Given the description of an element on the screen output the (x, y) to click on. 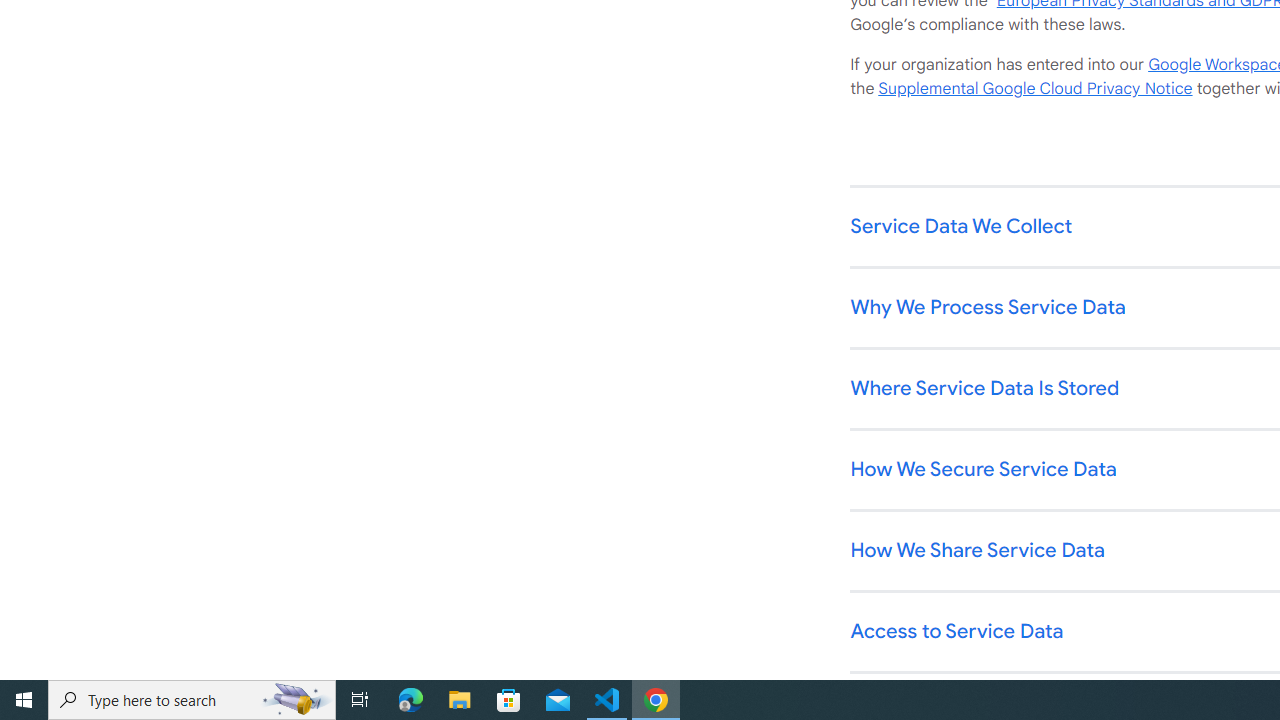
Supplemental Google Cloud Privacy Notice (1035, 89)
